Given the description of an element on the screen output the (x, y) to click on. 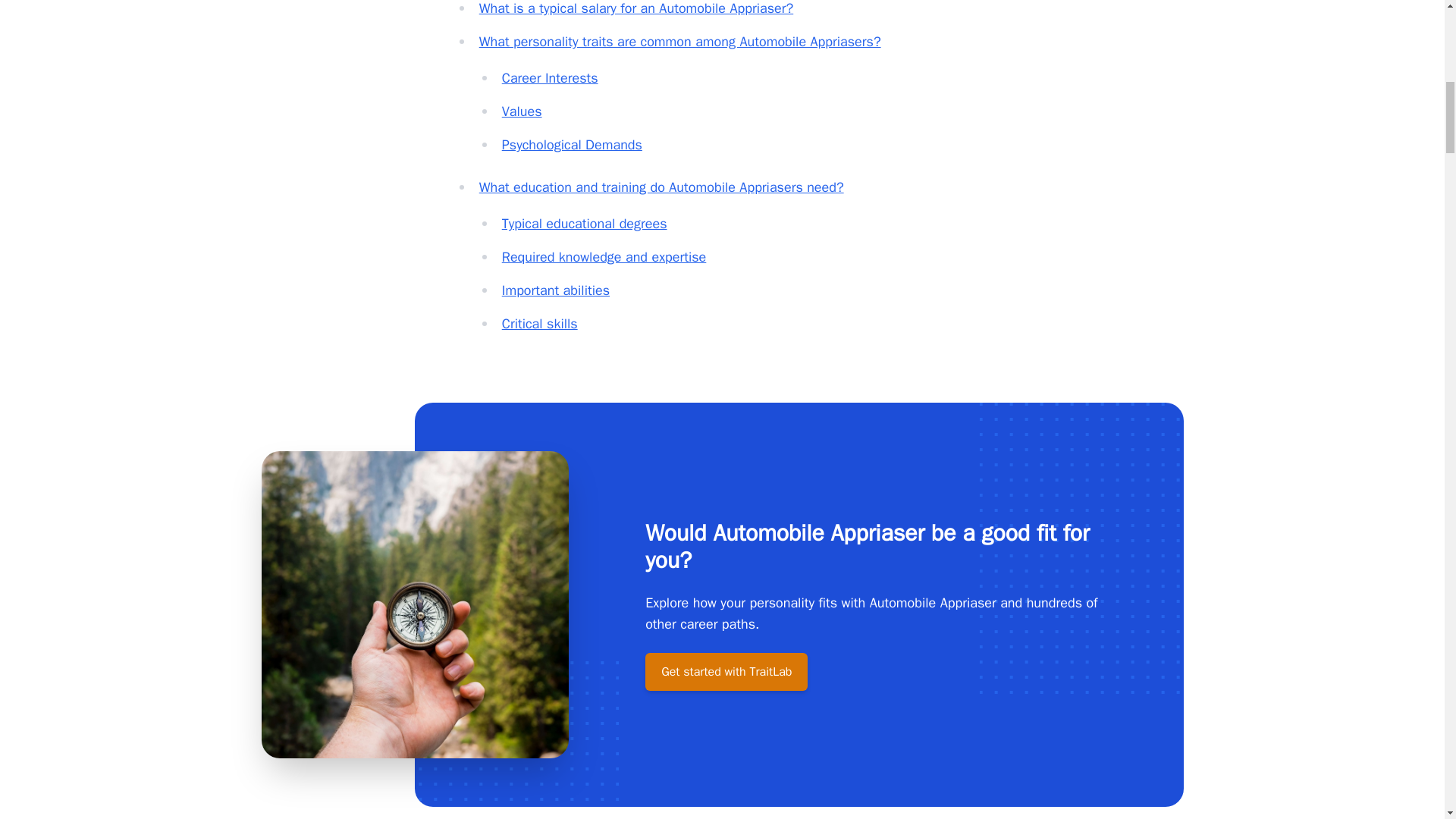
Critical skills (540, 323)
Important abilities (556, 289)
Required knowledge and expertise (604, 256)
Typical educational degrees (584, 223)
Get started with TraitLab (726, 671)
Career Interests (550, 77)
What is a typical salary for an Automobile Appriaser? (636, 8)
Values (521, 111)
Psychological Demands (572, 144)
What education and training do Automobile Appriasers need? (661, 187)
